Given the description of an element on the screen output the (x, y) to click on. 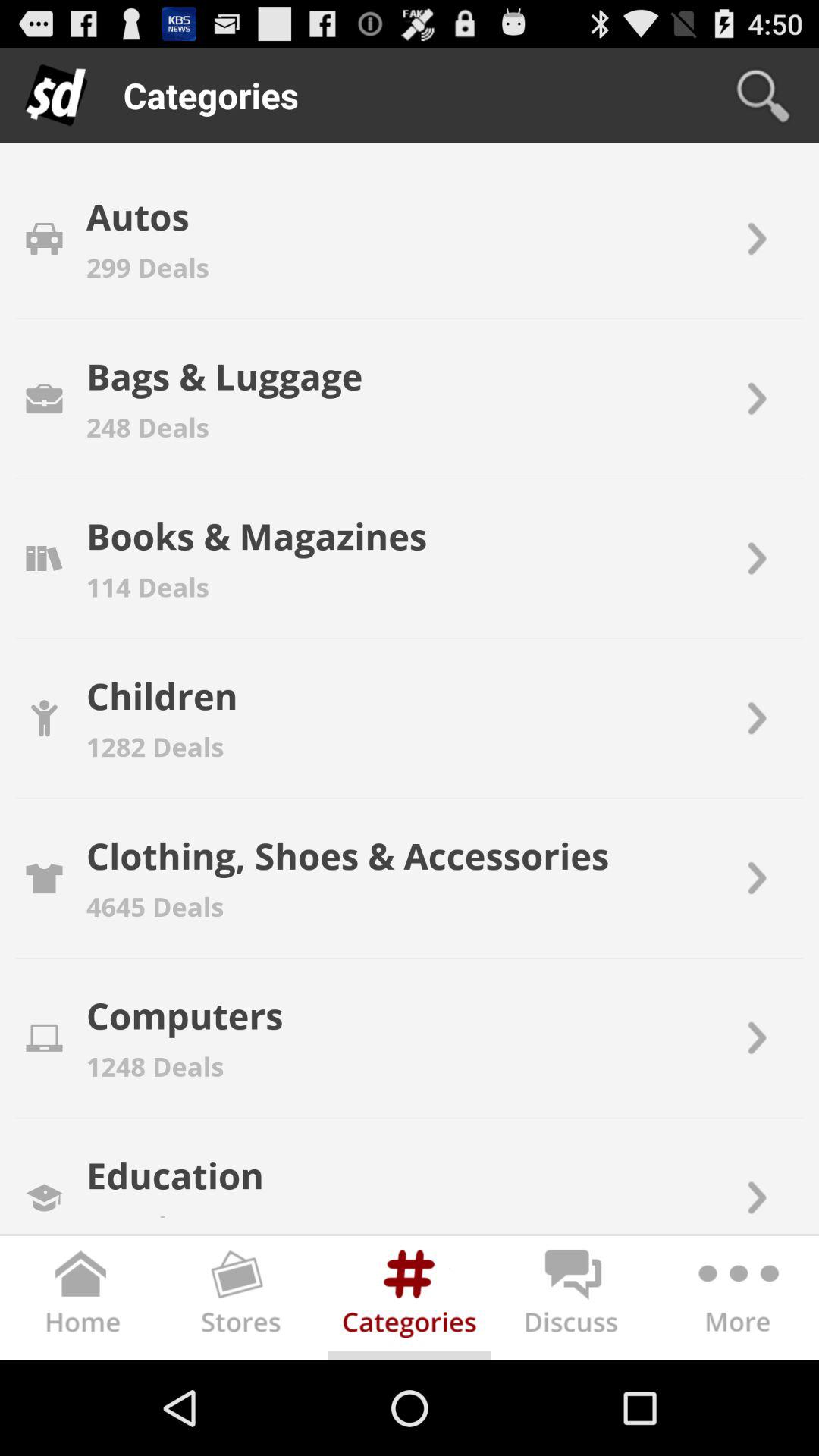
discuss (573, 1301)
